Given the description of an element on the screen output the (x, y) to click on. 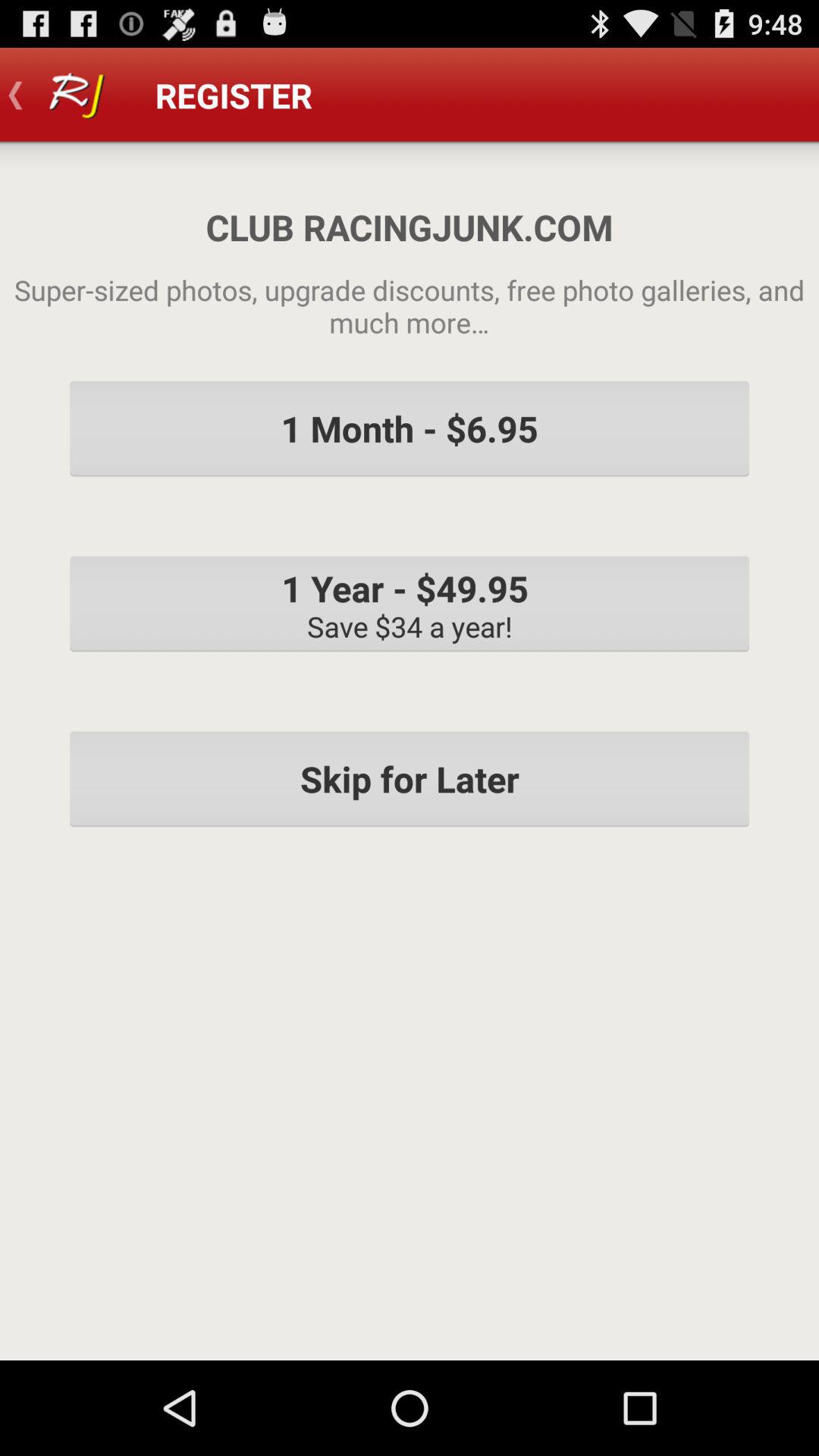
press the icon above the skip for later item (409, 603)
